Given the description of an element on the screen output the (x, y) to click on. 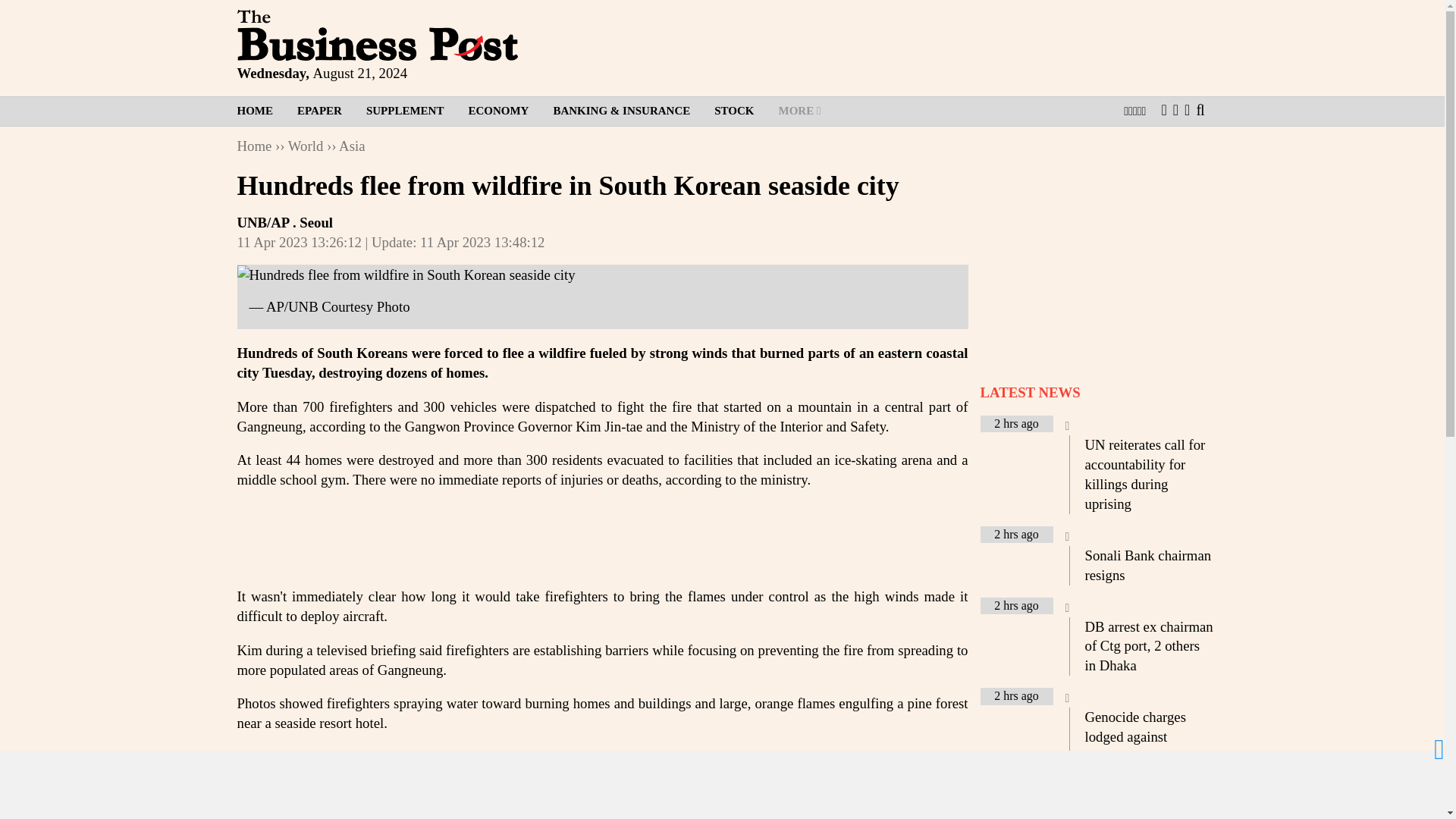
EPAPER (319, 111)
ECONOMY (497, 111)
MORE (799, 111)
The Business Post (375, 34)
SUPPLEMENT (405, 111)
HOME (260, 111)
STOCK (733, 111)
